Given the description of an element on the screen output the (x, y) to click on. 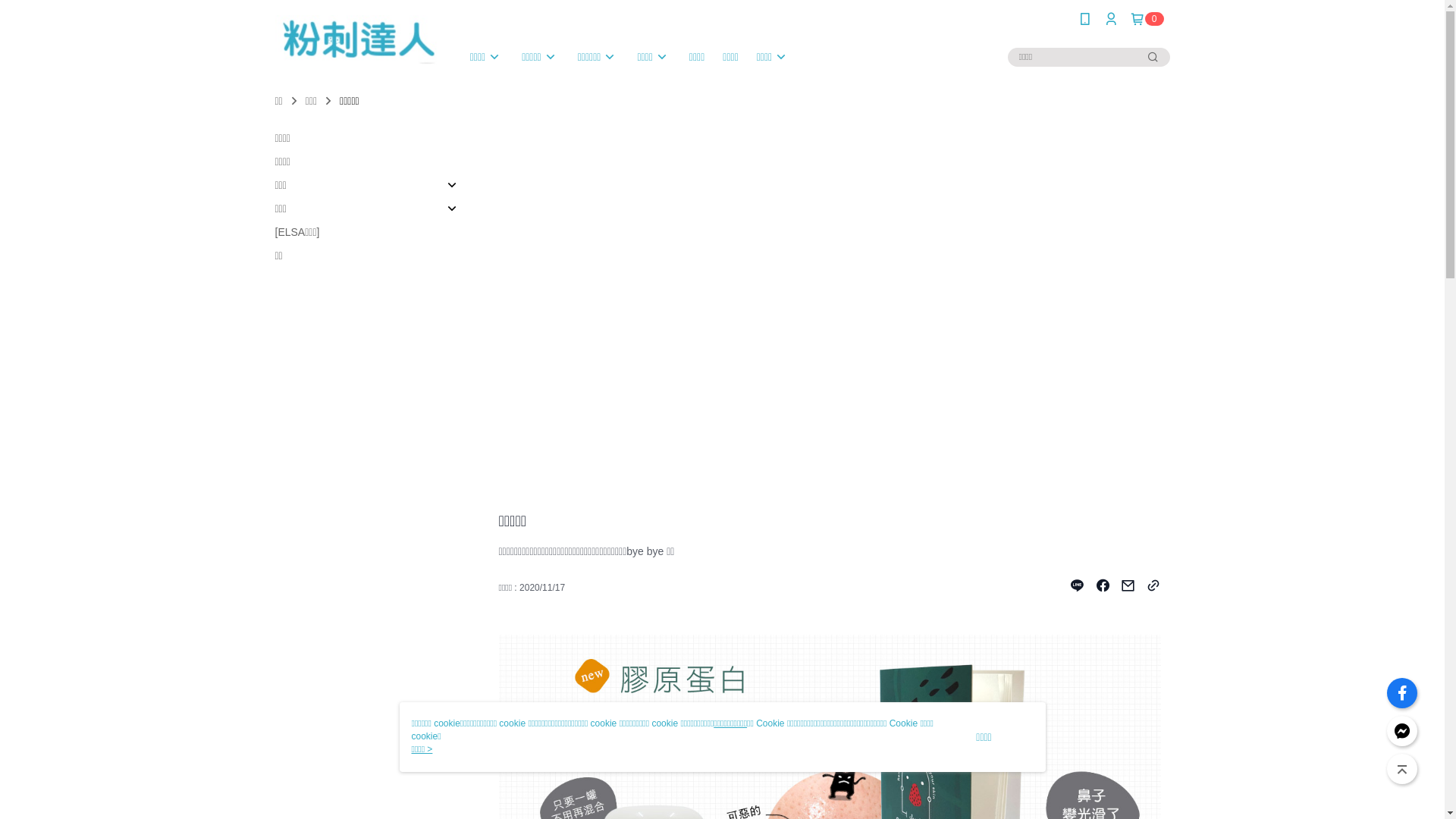
0 Element type: text (1146, 18)
